Given the description of an element on the screen output the (x, y) to click on. 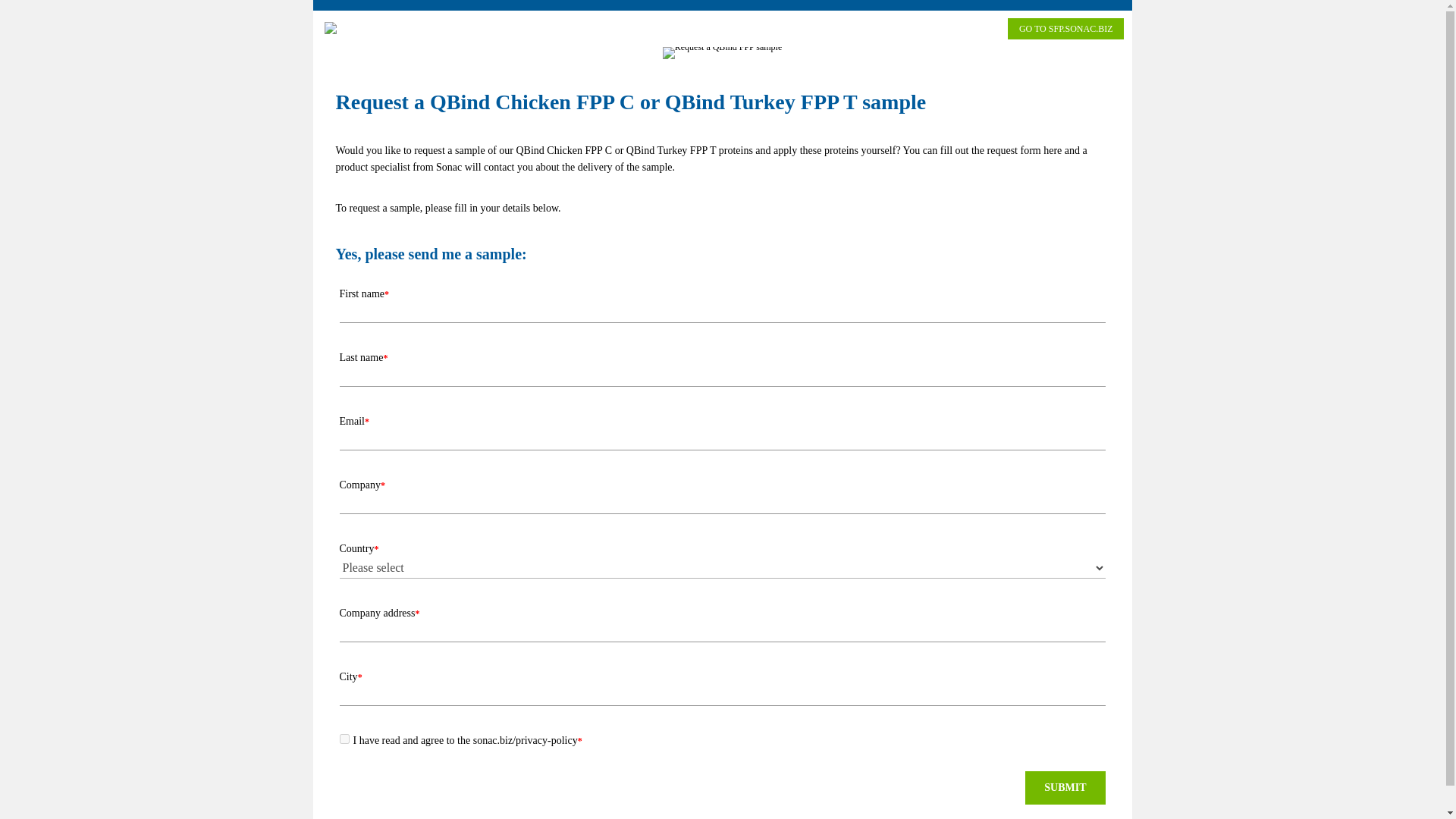
on (344, 738)
GO TO SFP.SONAC.BIZ (1065, 28)
SUBMIT (1065, 787)
